Given the description of an element on the screen output the (x, y) to click on. 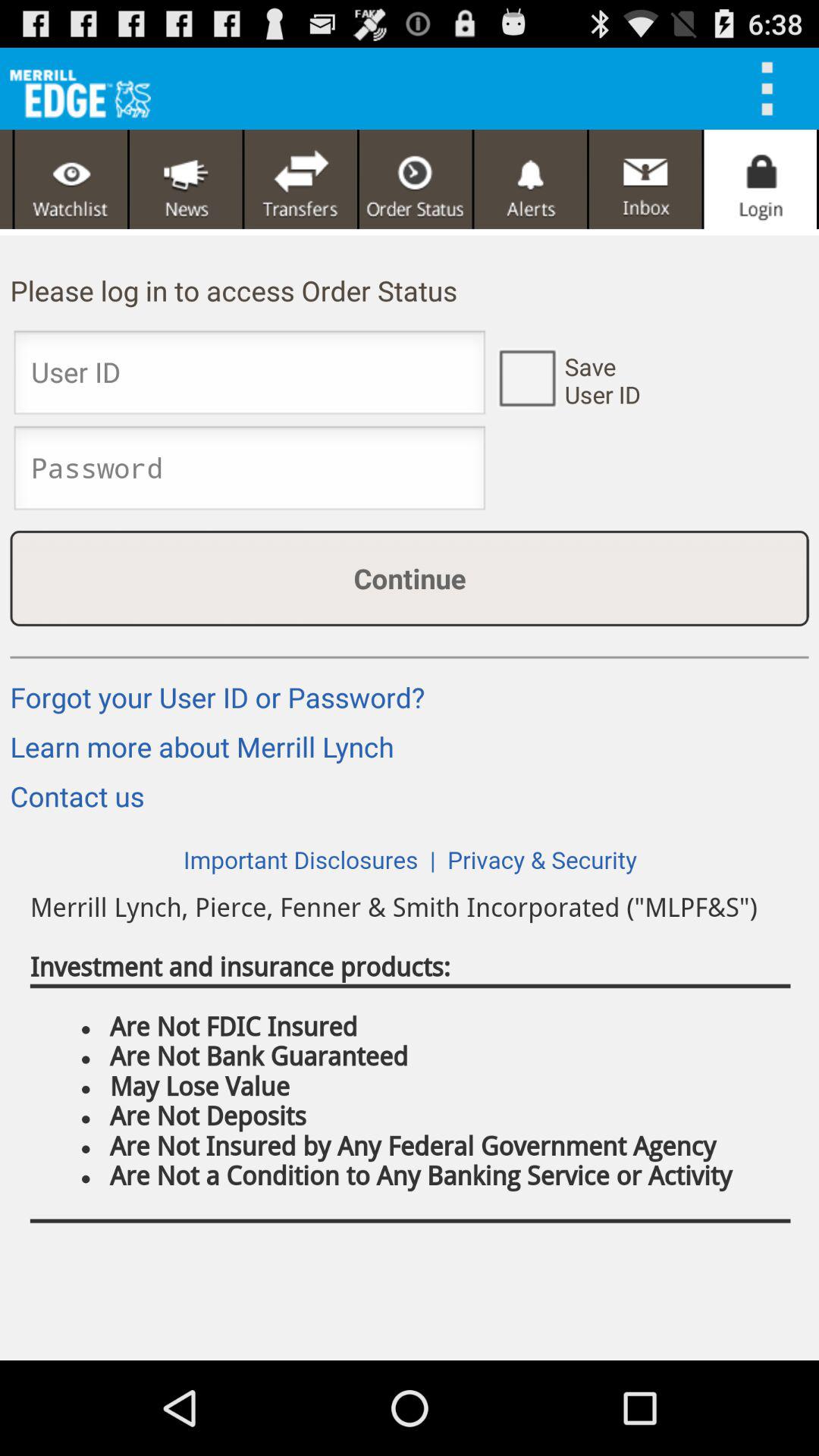
news feed button (185, 179)
